Given the description of an element on the screen output the (x, y) to click on. 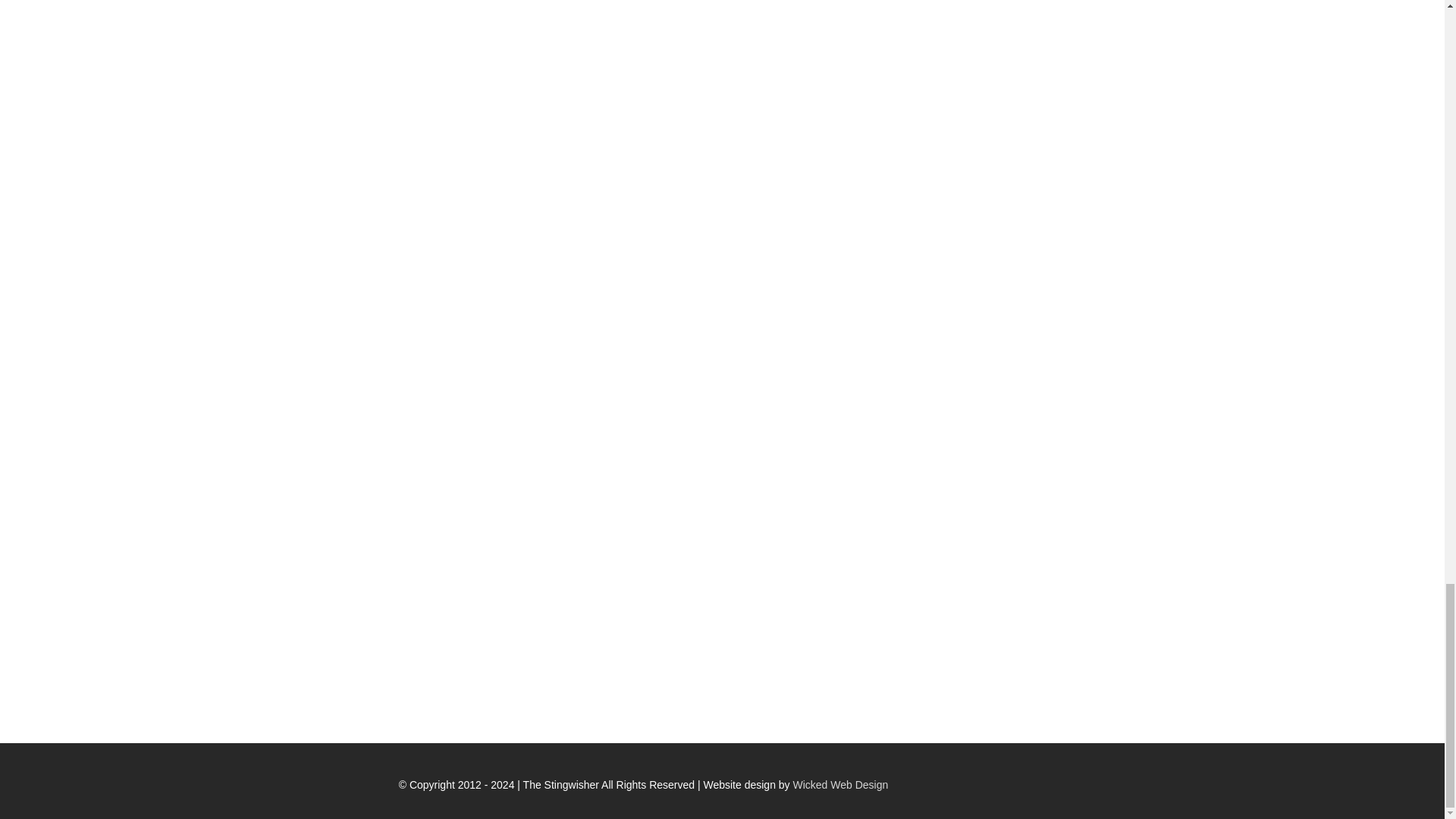
Wicked Web Design (840, 784)
